Given the description of an element on the screen output the (x, y) to click on. 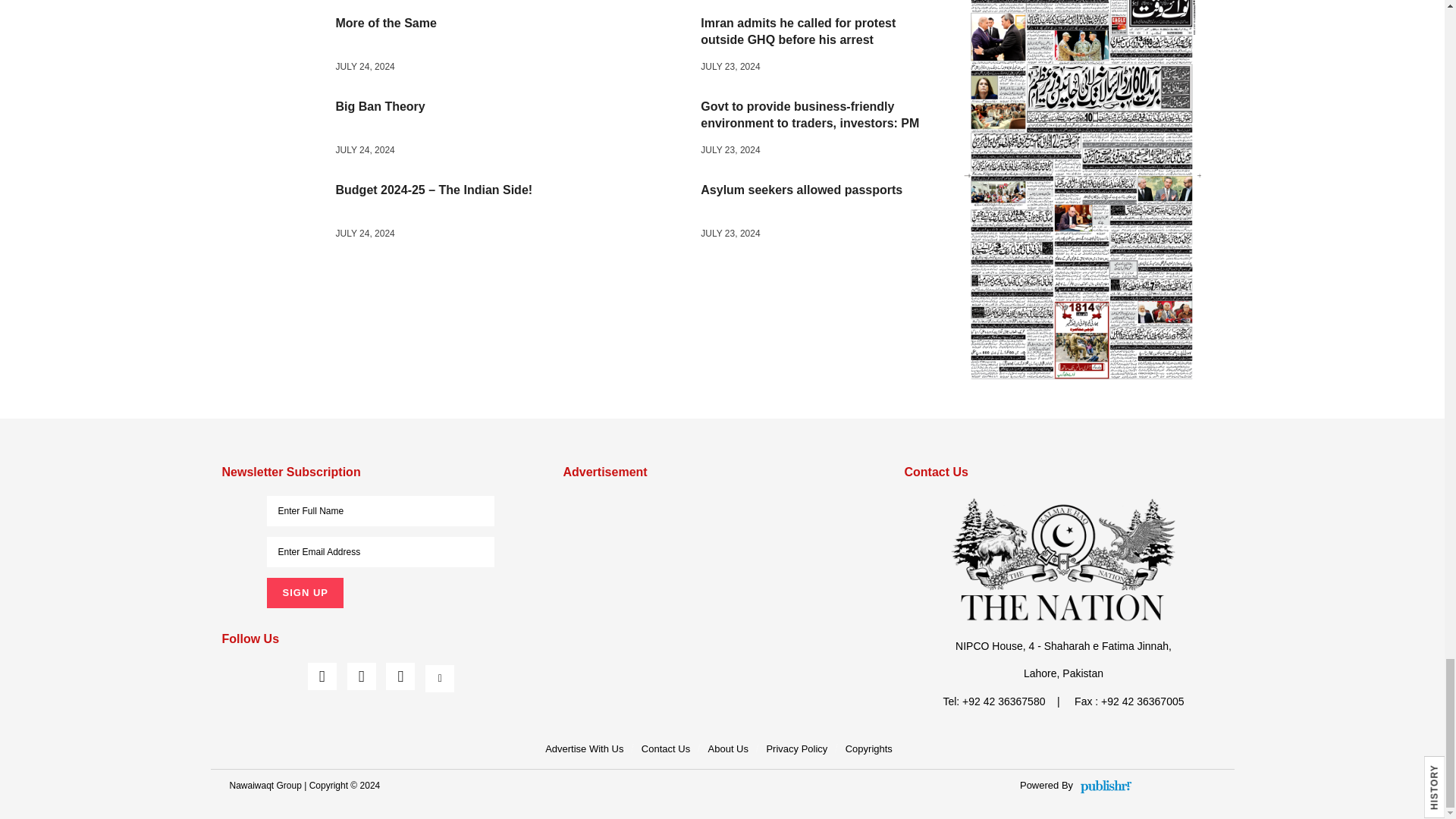
Big Ban Theory (278, 130)
Asylum seekers allowed passports (643, 213)
Sign up (304, 593)
More of the Same (278, 47)
